Given the description of an element on the screen output the (x, y) to click on. 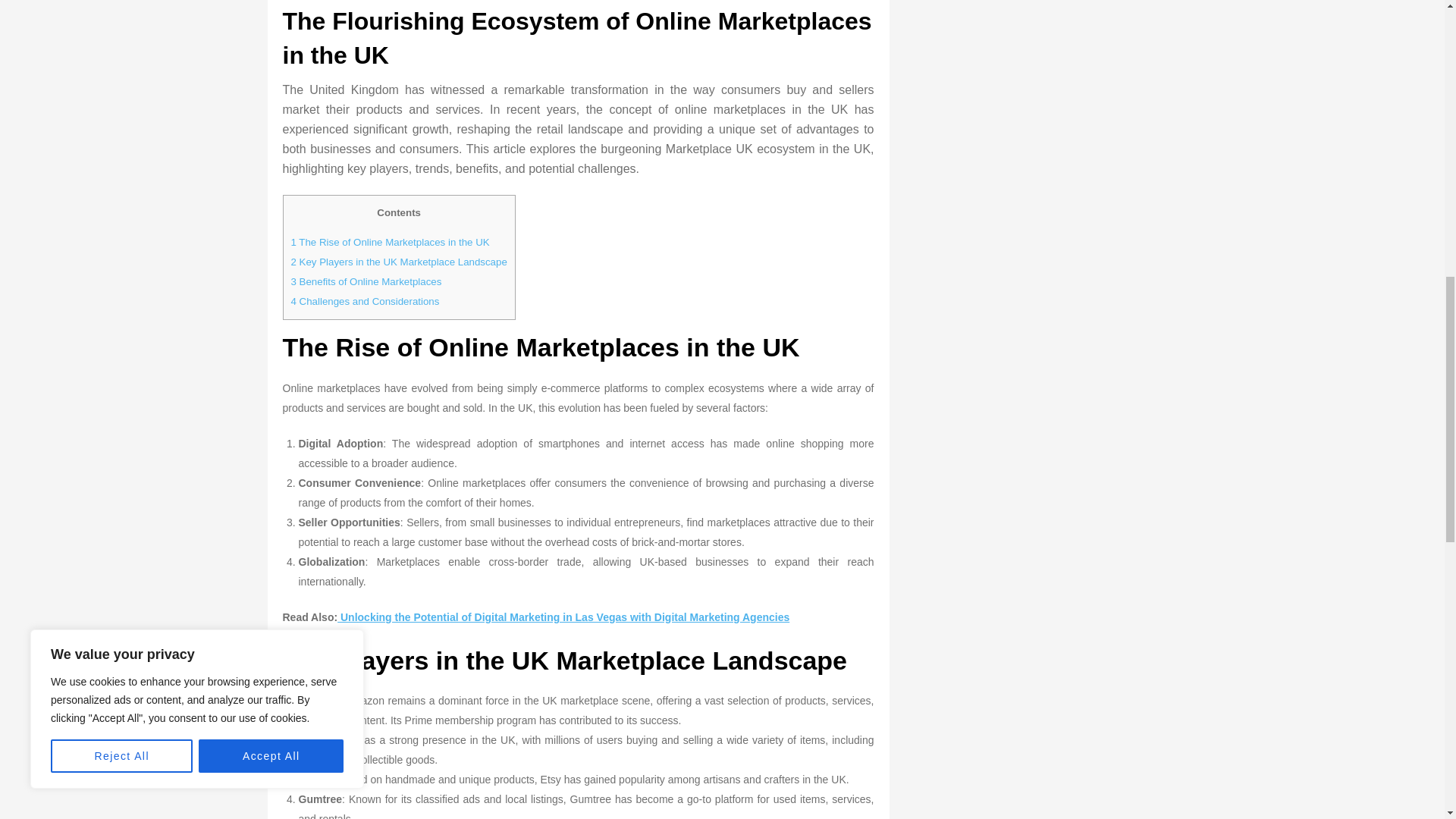
3 Benefits of Online Marketplaces (366, 281)
4 Challenges and Considerations (365, 301)
1 The Rise of Online Marketplaces in the UK (390, 242)
2 Key Players in the UK Marketplace Landscape (398, 261)
